Given the description of an element on the screen output the (x, y) to click on. 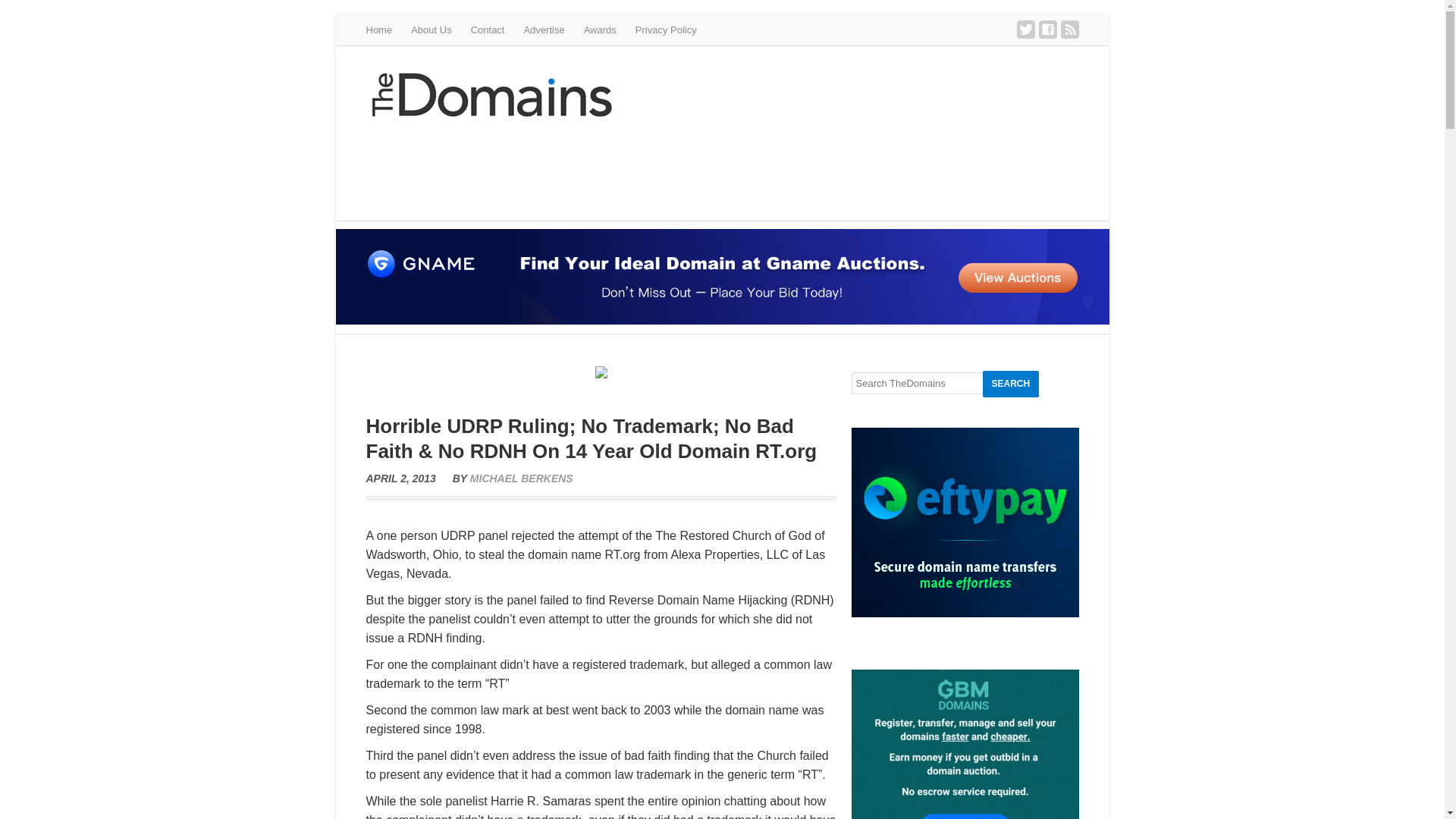
Twitter (1024, 29)
Search (1010, 384)
Awards (599, 30)
Advertise (543, 30)
Privacy Policy (665, 30)
Facebook (1048, 29)
Search (1010, 384)
gd-ending-soon (802, 165)
Contact (487, 30)
About Us (430, 30)
